Given the description of an element on the screen output the (x, y) to click on. 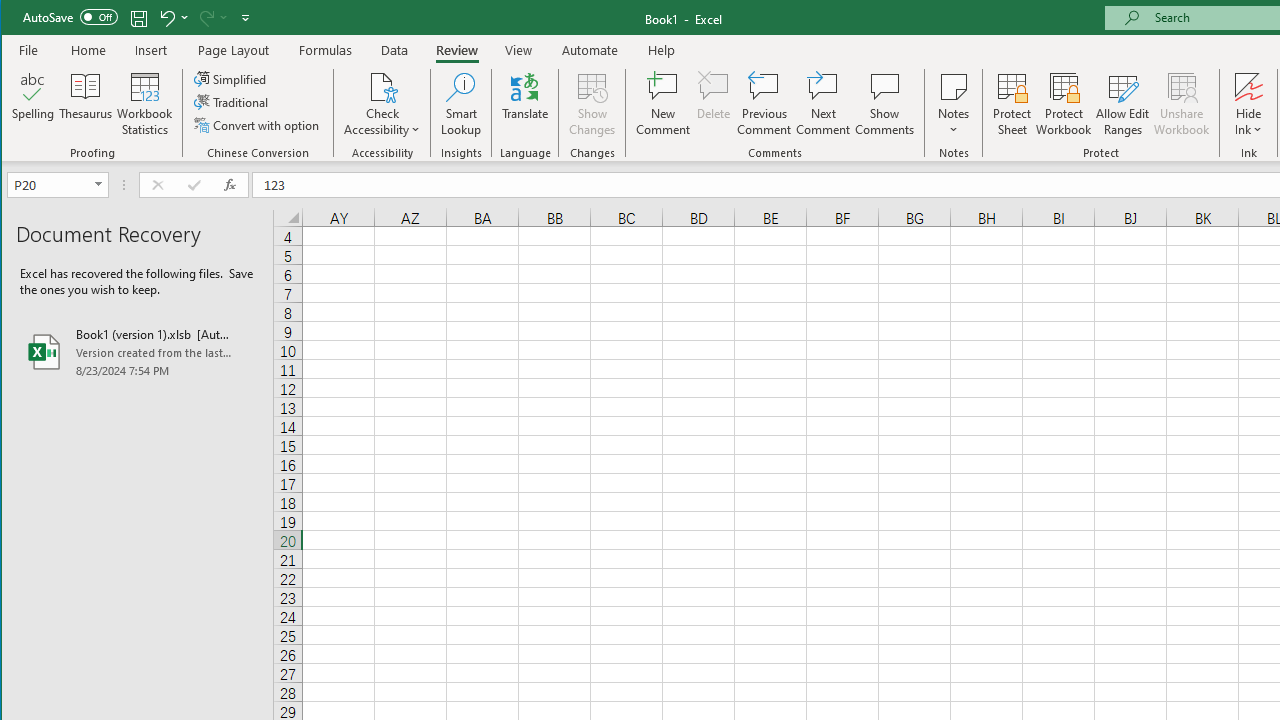
Save (139, 17)
Insert (151, 50)
System (19, 18)
Next Comment (822, 104)
